Given the description of an element on the screen output the (x, y) to click on. 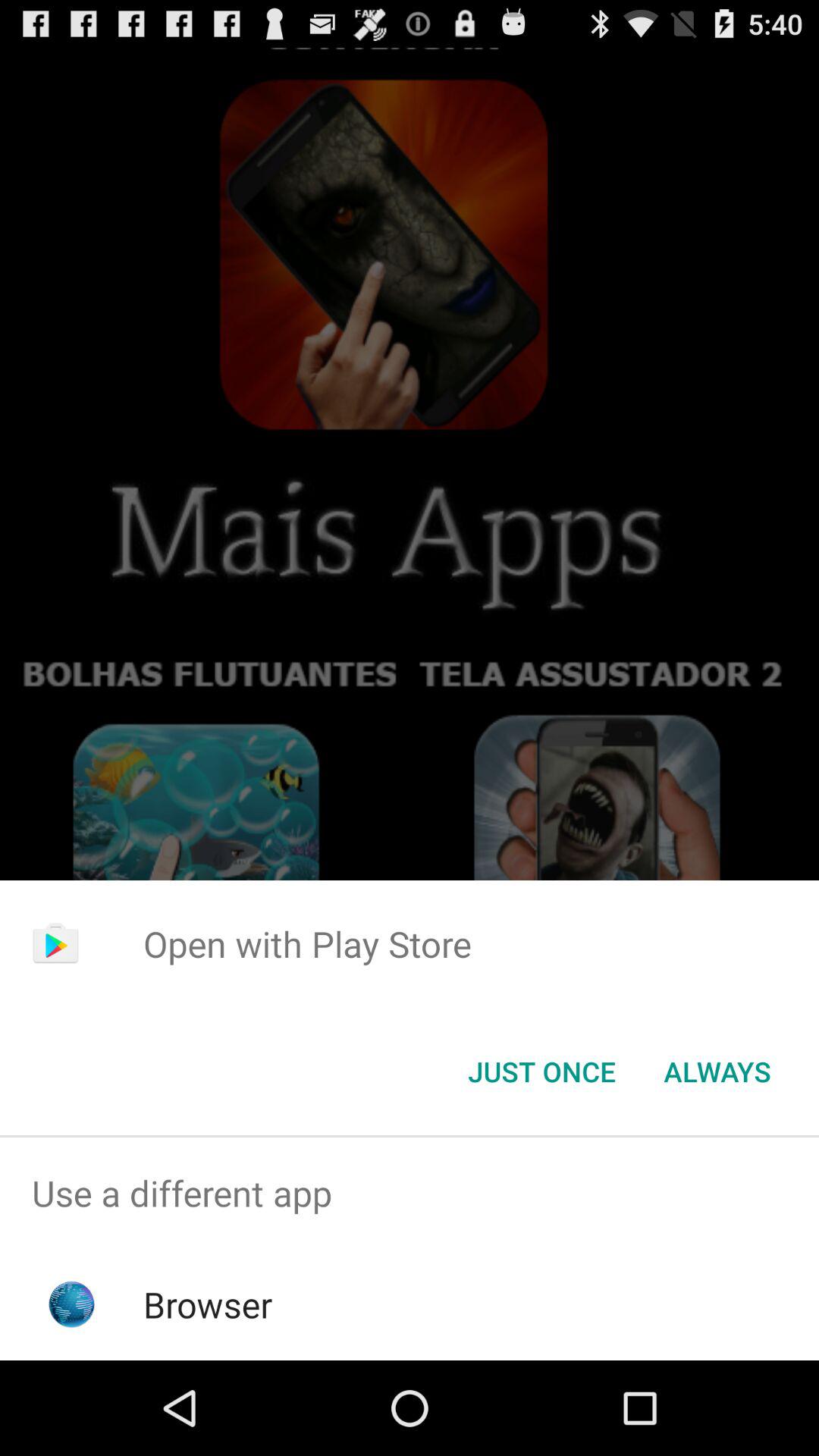
open the item at the bottom right corner (717, 1071)
